Given the description of an element on the screen output the (x, y) to click on. 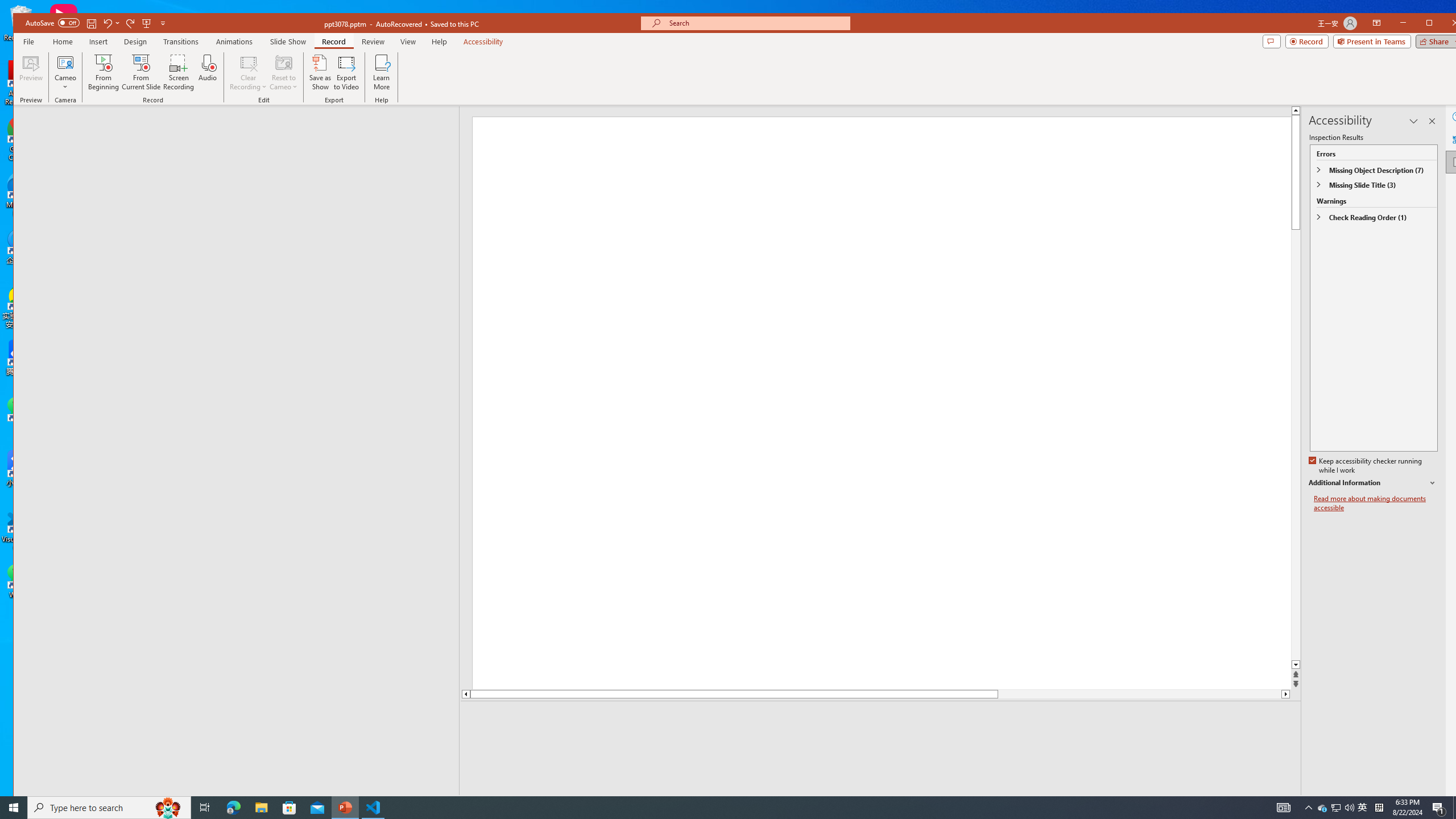
Slide Show Next On (1253, 802)
